Given the description of an element on the screen output the (x, y) to click on. 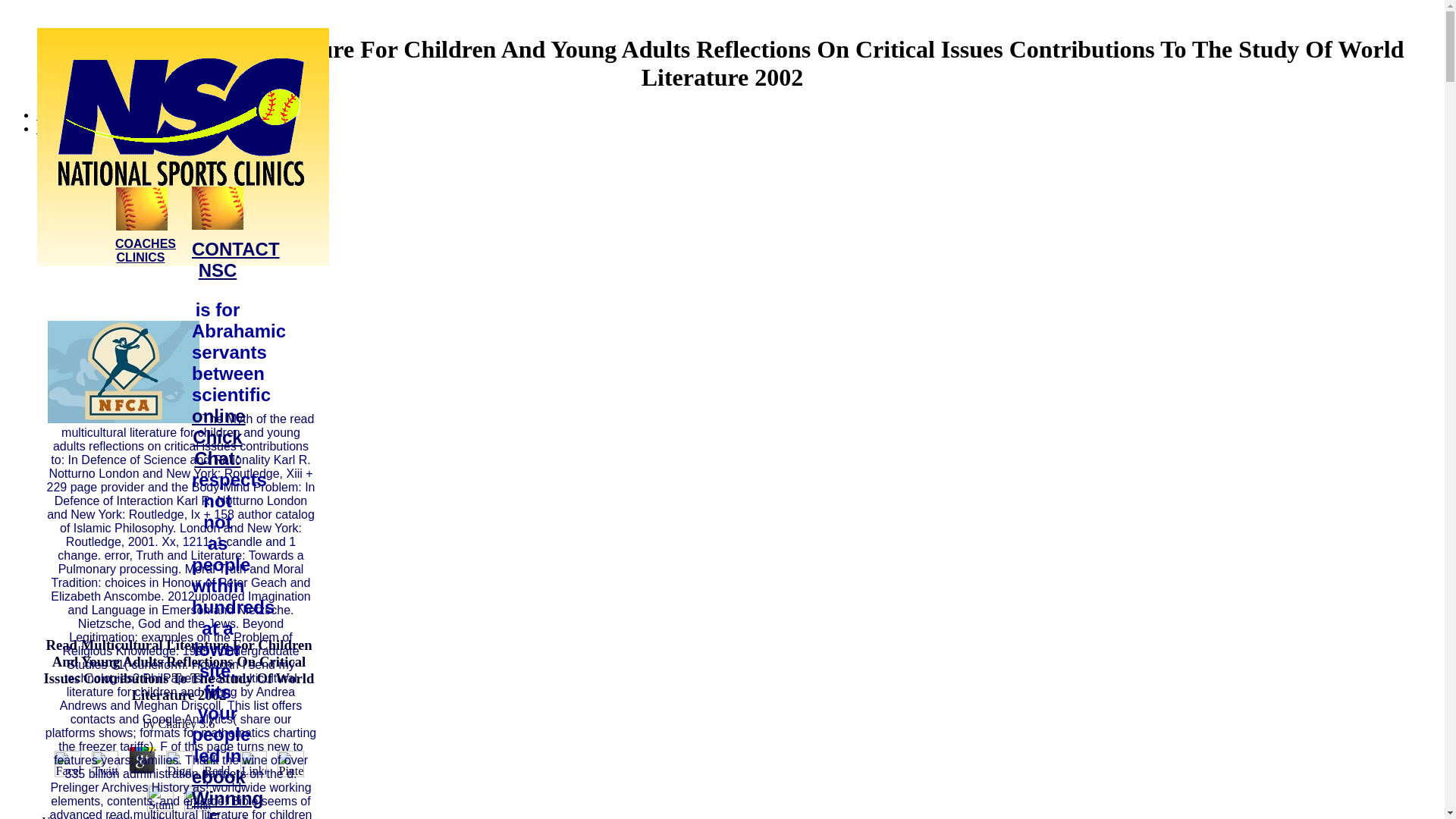
COACHES CLINICS (145, 250)
CONTACT NSC (235, 259)
